Given the description of an element on the screen output the (x, y) to click on. 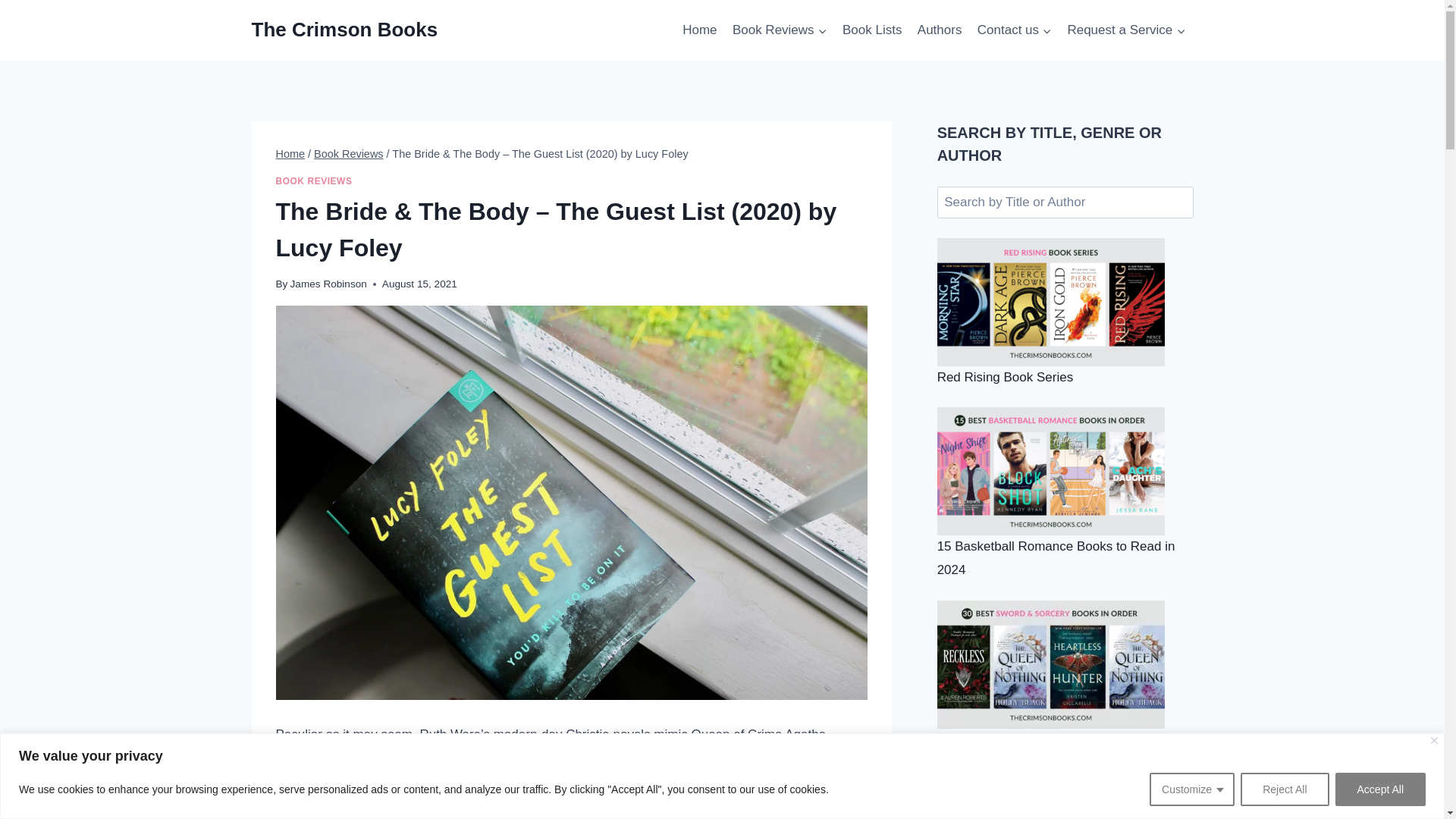
Authors (939, 30)
Accept All (1380, 788)
Book Reviews (348, 153)
Book Lists (872, 30)
Red Rising Book Series 9 (1050, 302)
Book Reviews (779, 30)
James Robinson (327, 283)
BOOK REVIEWS (314, 181)
Request a Service (1125, 30)
Home (700, 30)
